Given the description of an element on the screen output the (x, y) to click on. 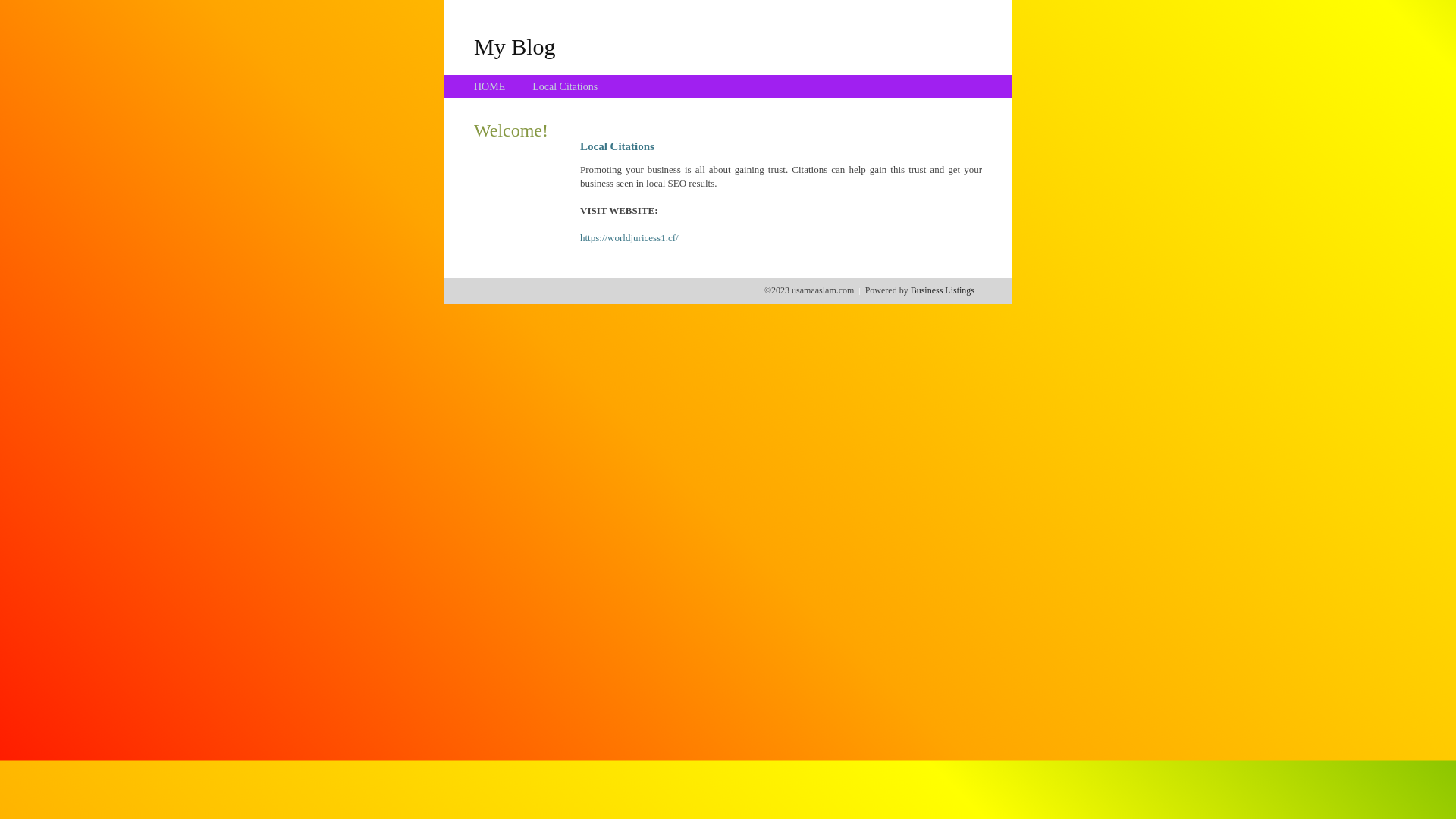
https://worldjuricess1.cf/ Element type: text (629, 237)
Local Citations Element type: text (564, 86)
My Blog Element type: text (514, 46)
Business Listings Element type: text (942, 290)
HOME Element type: text (489, 86)
